Given the description of an element on the screen output the (x, y) to click on. 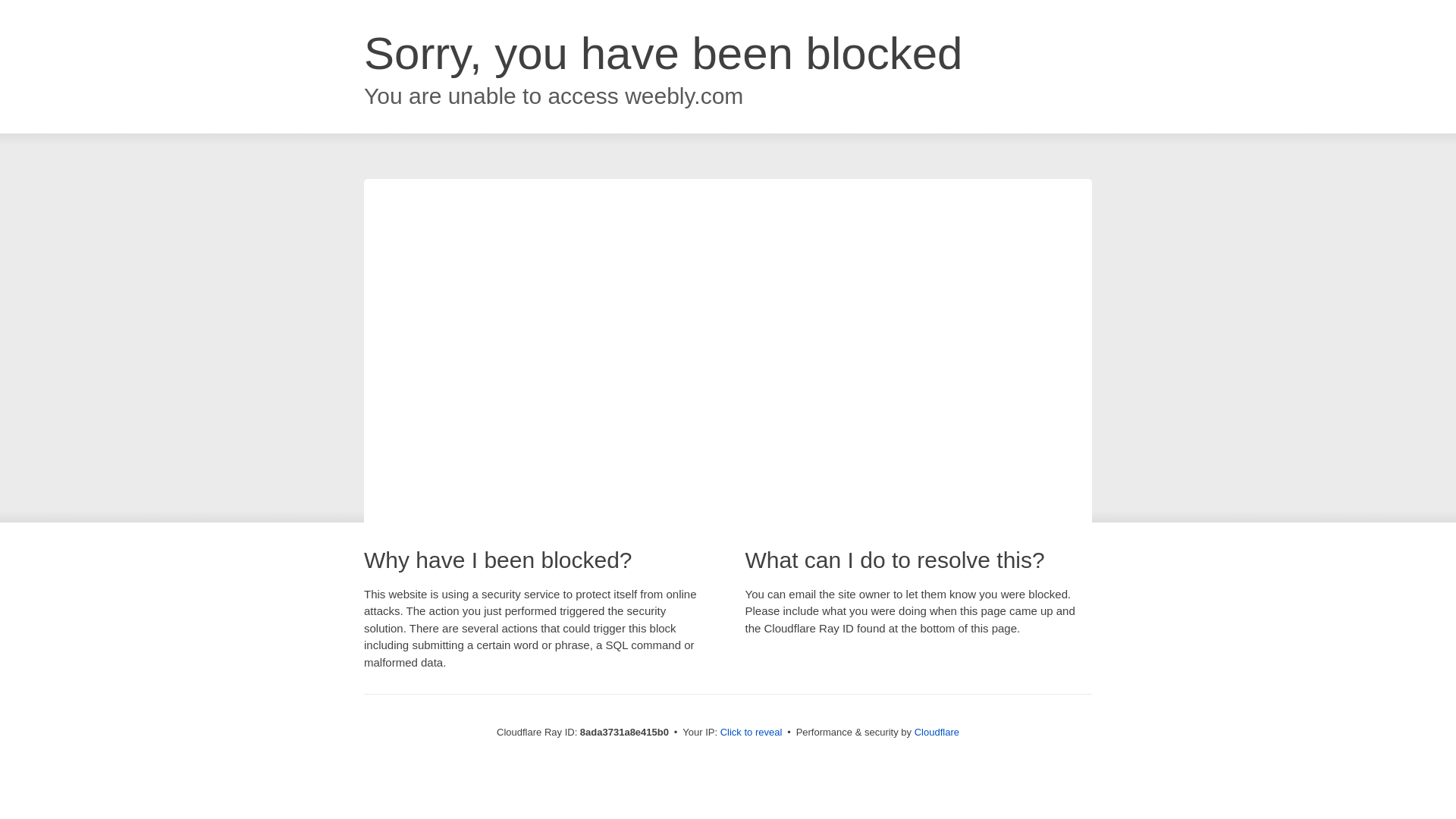
Click to reveal (751, 732)
Cloudflare (936, 731)
